Given the description of an element on the screen output the (x, y) to click on. 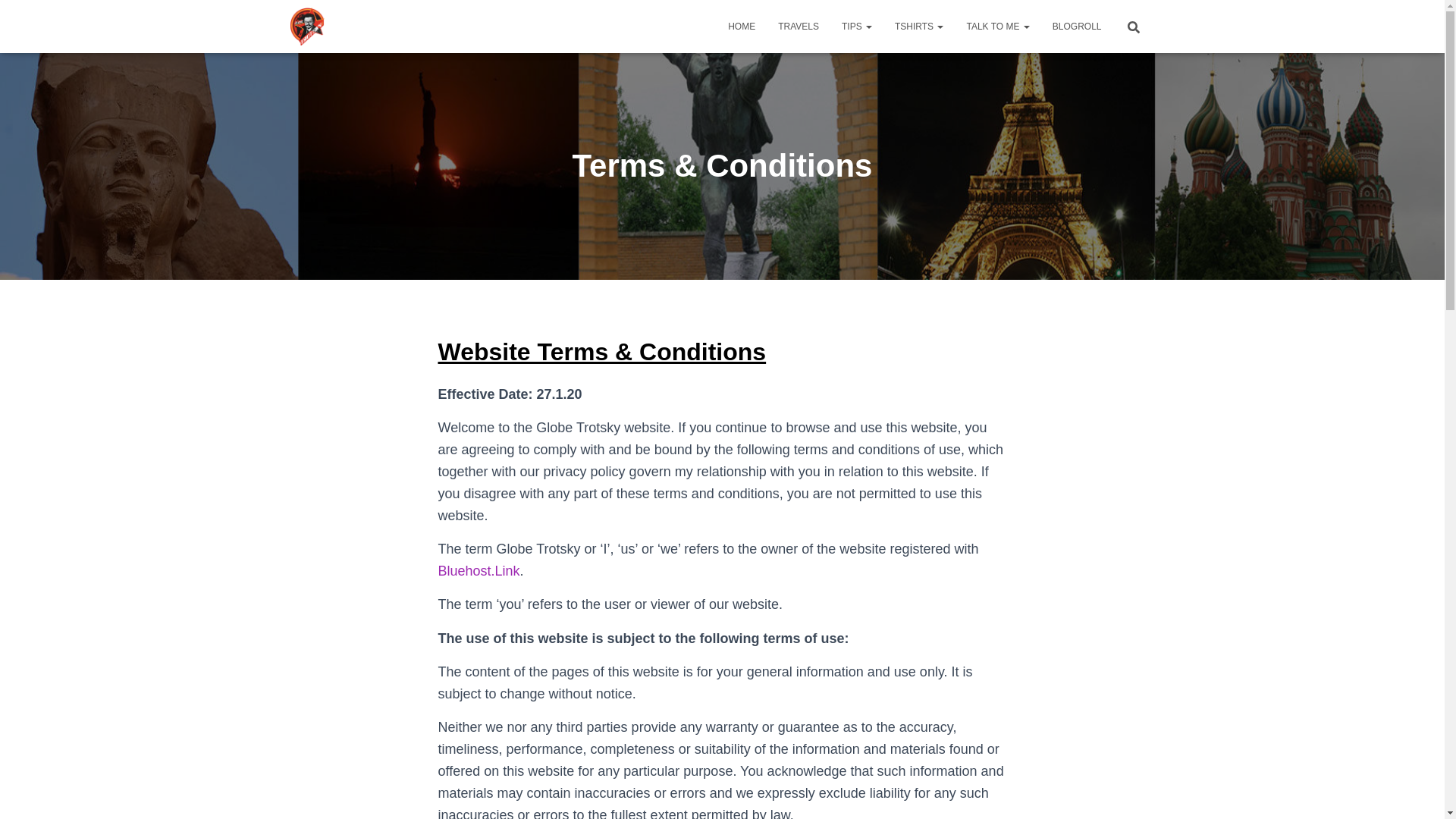
TALK TO ME (998, 26)
TIPS (856, 26)
TRAVELS (798, 26)
Travels (798, 26)
Home (741, 26)
BLOGROLL (1077, 26)
Bluehost.Link (478, 570)
Tips (856, 26)
HOME (741, 26)
Globe Trotsky (307, 26)
TSHIRTS (919, 26)
